Given the description of an element on the screen output the (x, y) to click on. 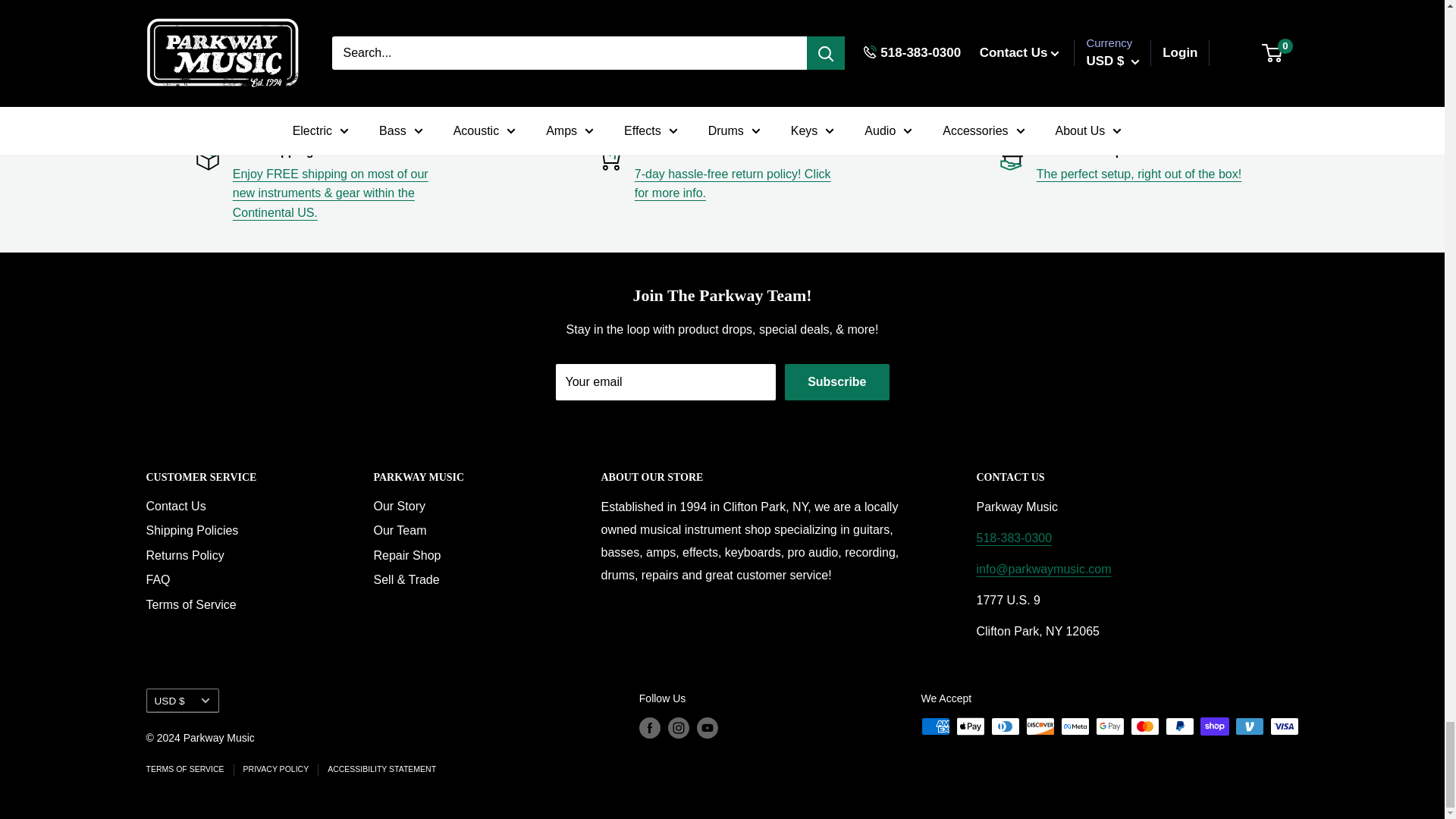
tel:518-383-0300 (1014, 537)
Parkway Music Email Address (1044, 568)
